Given the description of an element on the screen output the (x, y) to click on. 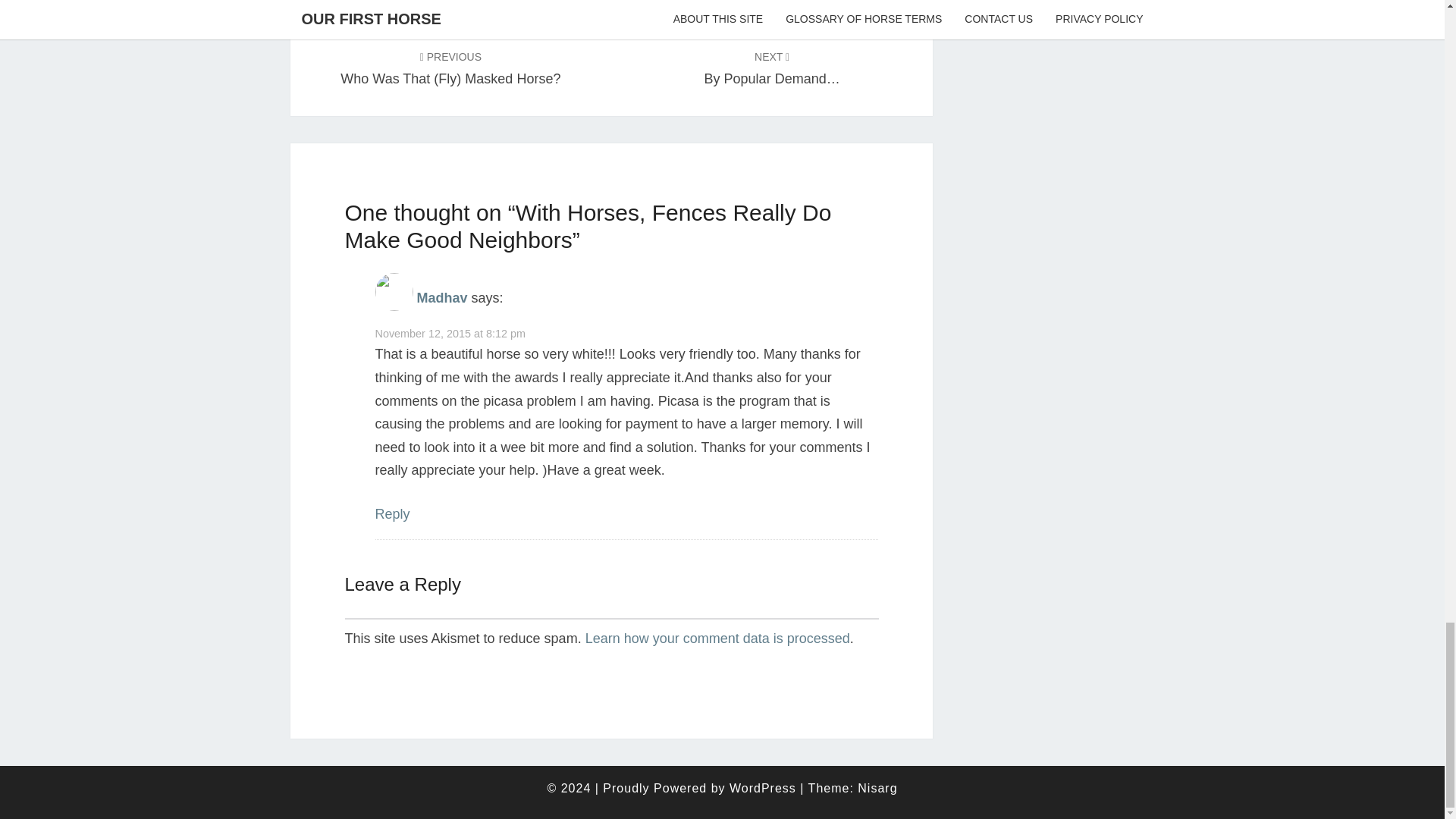
Reply (391, 513)
November 12, 2015 at 8:12 pm (449, 333)
Learn how your comment data is processed (717, 638)
Madhav (441, 297)
